Given the description of an element on the screen output the (x, y) to click on. 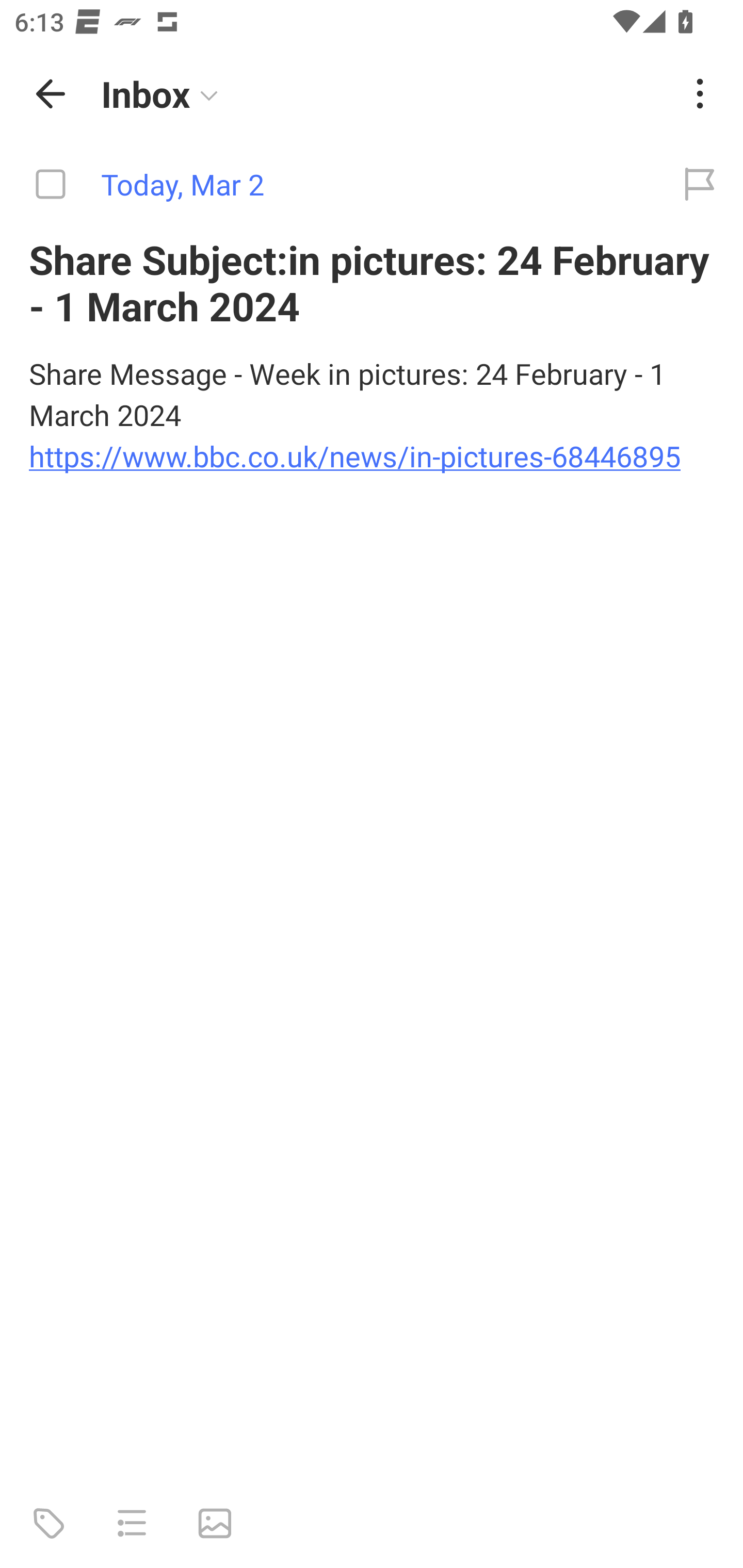
Inbox (384, 93)
Today, Mar 2  (328, 184)
